Given the description of an element on the screen output the (x, y) to click on. 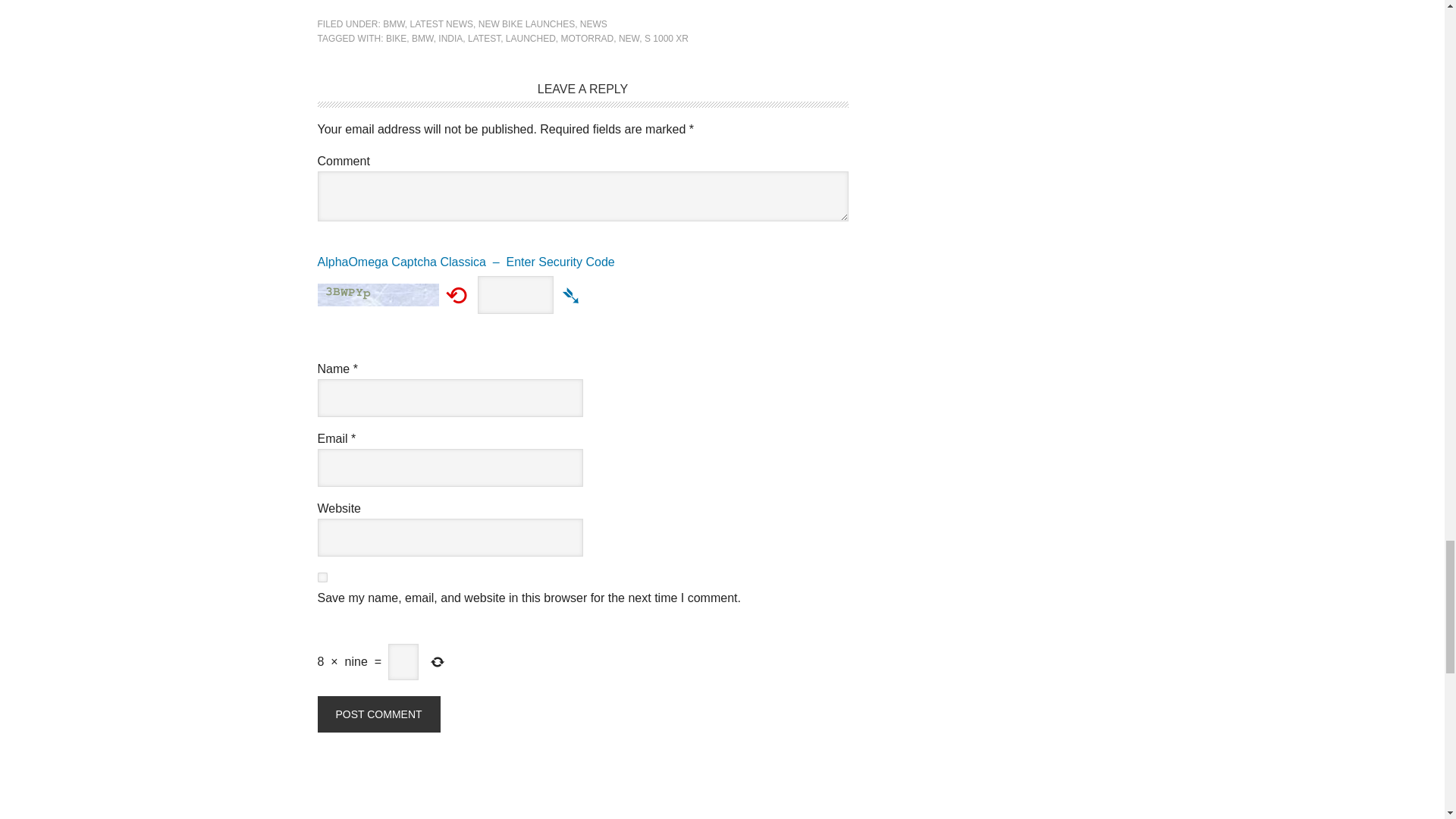
LATEST (483, 38)
2024 Yezdi Adventure Review - An Underrated Gem (622, 6)
NEW (628, 38)
Indian Roadmaster Elite Launched at Rs 71.82 lakh (500, 6)
 Reload AlphaOmega Captcha  (456, 294)
MOTORRAD (587, 38)
Top Five Most Expensive Scooters in India (378, 6)
NEWS (593, 23)
BMW (422, 38)
Post Comment (378, 714)
